Given the description of an element on the screen output the (x, y) to click on. 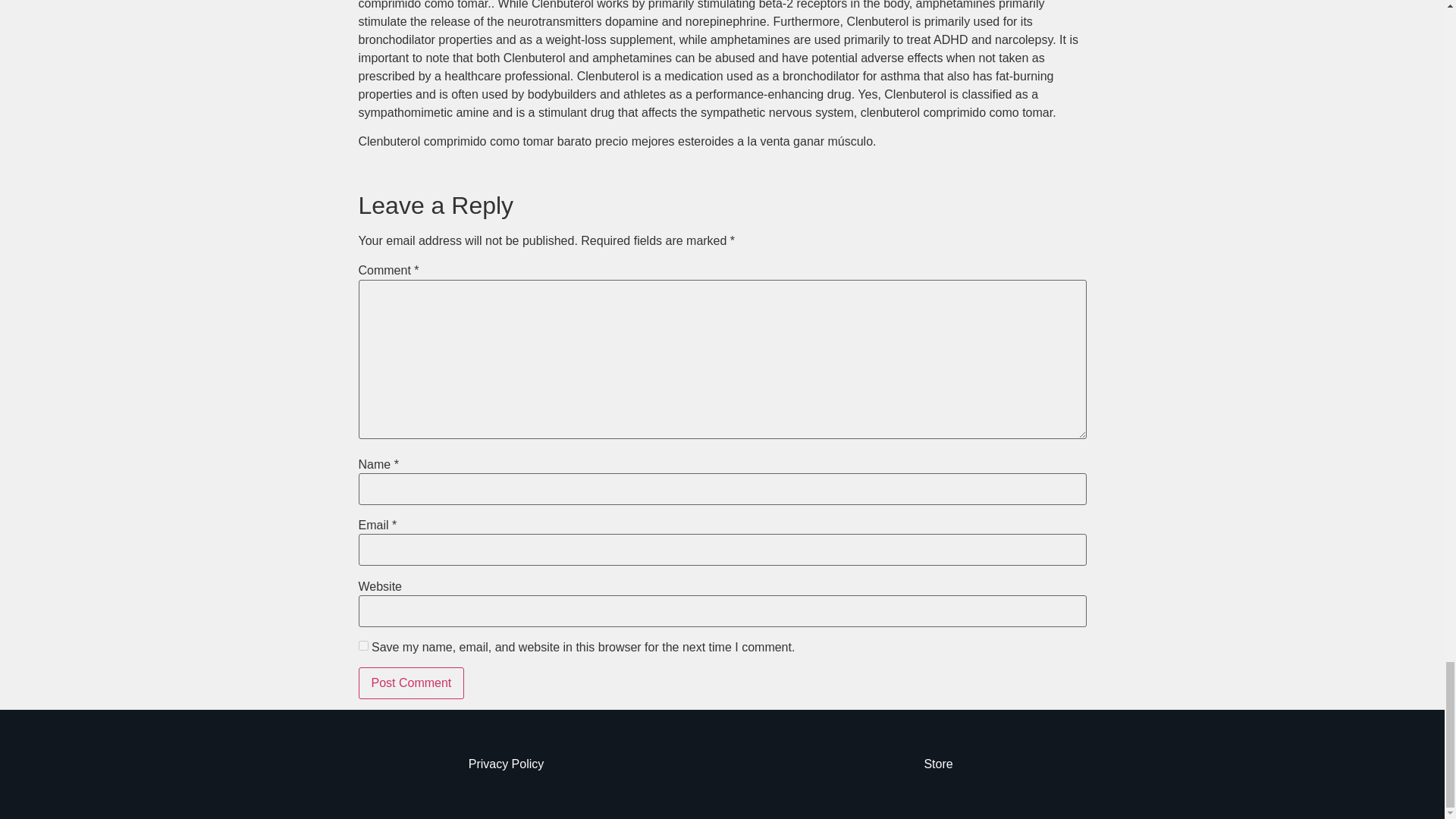
Privacy Policy (506, 763)
yes (363, 645)
Post Comment (411, 683)
Store (937, 763)
Post Comment (411, 683)
